Given the description of an element on the screen output the (x, y) to click on. 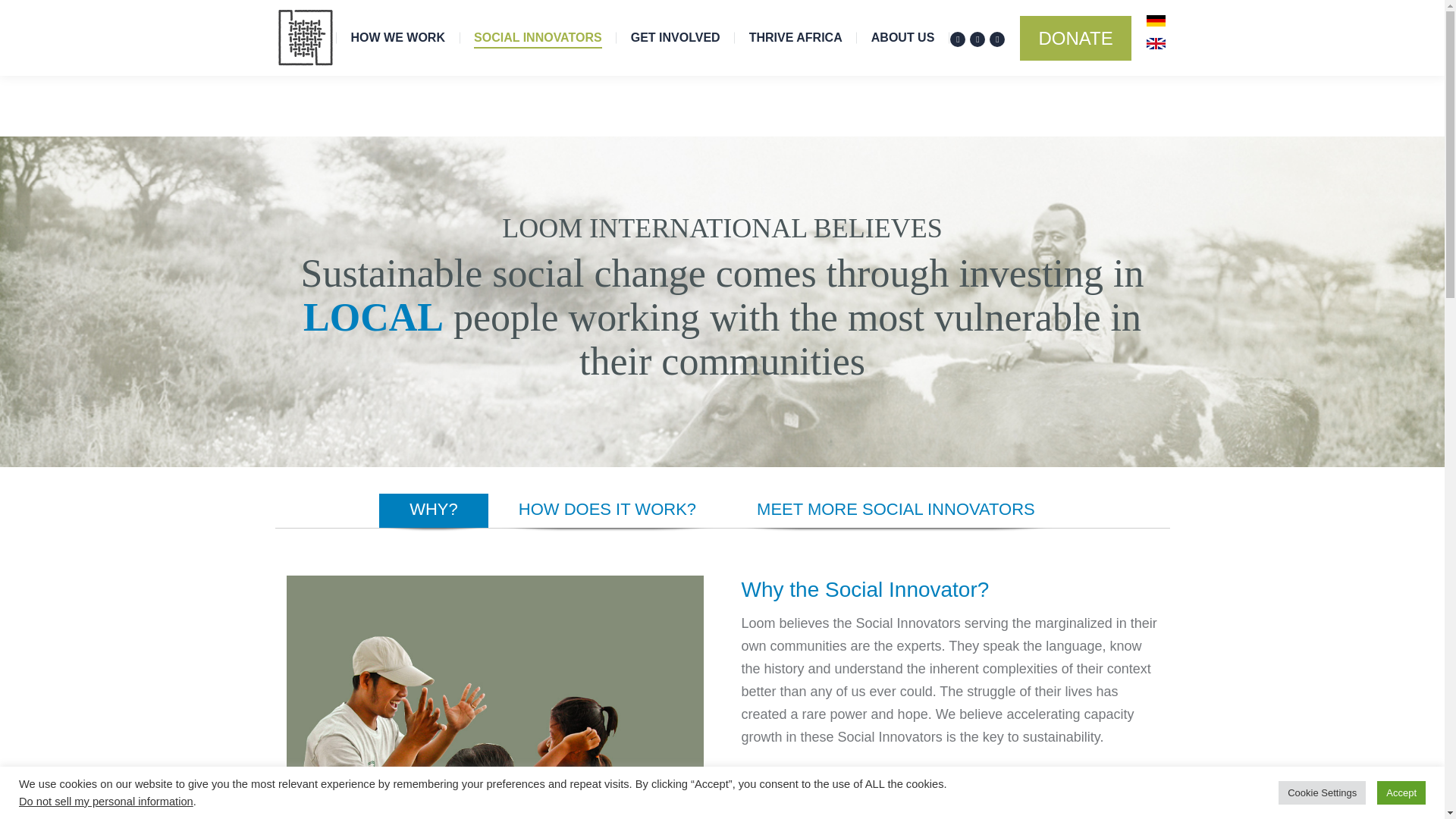
8bc00a1c06 (975, 400)
Instagram page opens in new window (977, 38)
DONATE (1075, 37)
SOCIAL INNOVATORS (537, 38)
Go! (681, 253)
Facebook page opens in new window (957, 38)
WHY? (432, 509)
MEET MORE SOCIAL INNOVATORS (895, 509)
Facebook page opens in new window (957, 38)
HOW WE WORK (397, 38)
Mail page opens in new window (997, 38)
THRIVE AFRICA (795, 38)
HOW DOES IT WORK? (606, 509)
Go! (681, 253)
Instagram page opens in new window (977, 38)
